Given the description of an element on the screen output the (x, y) to click on. 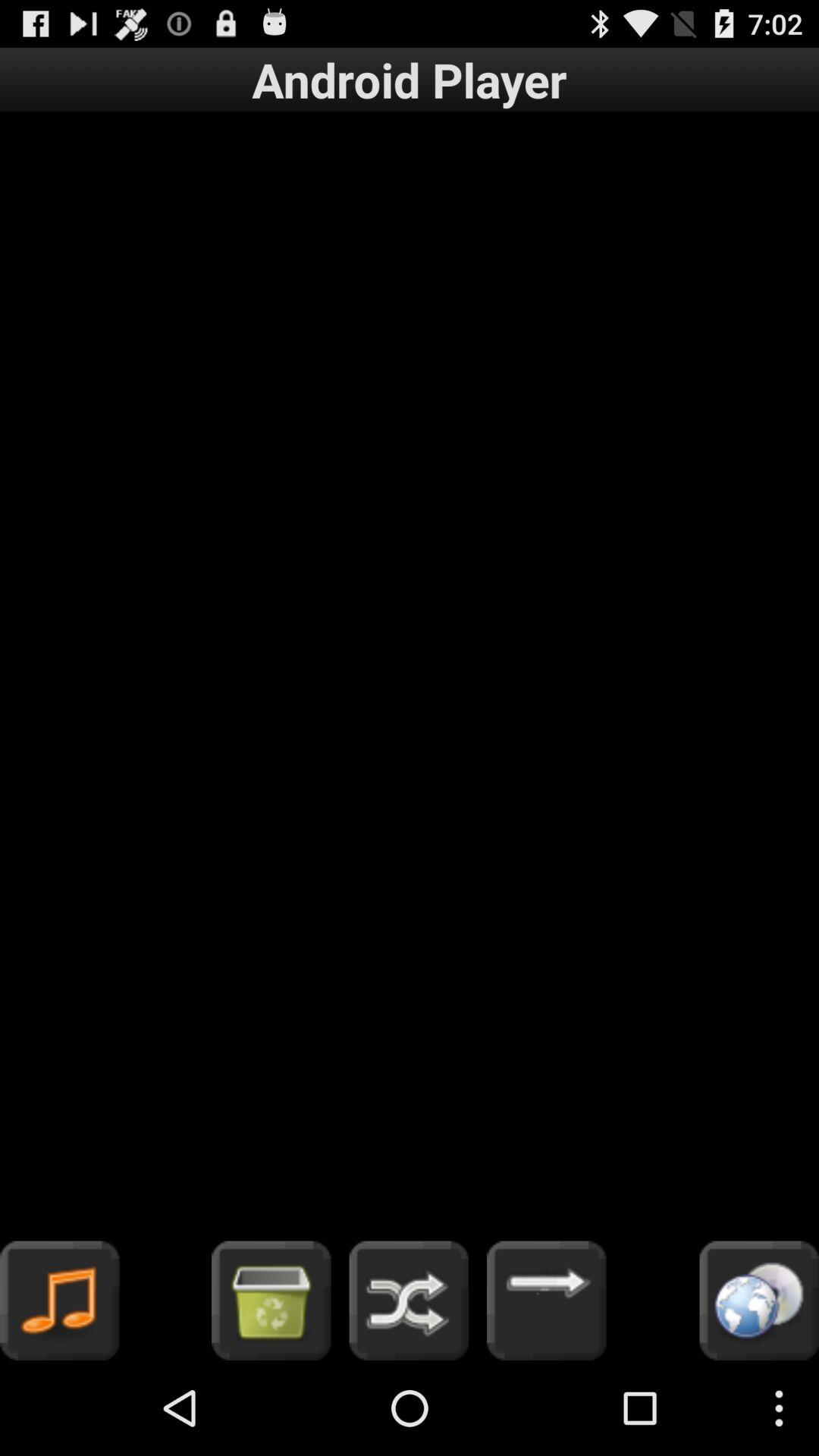
turn on the android player icon (409, 79)
